Given the description of an element on the screen output the (x, y) to click on. 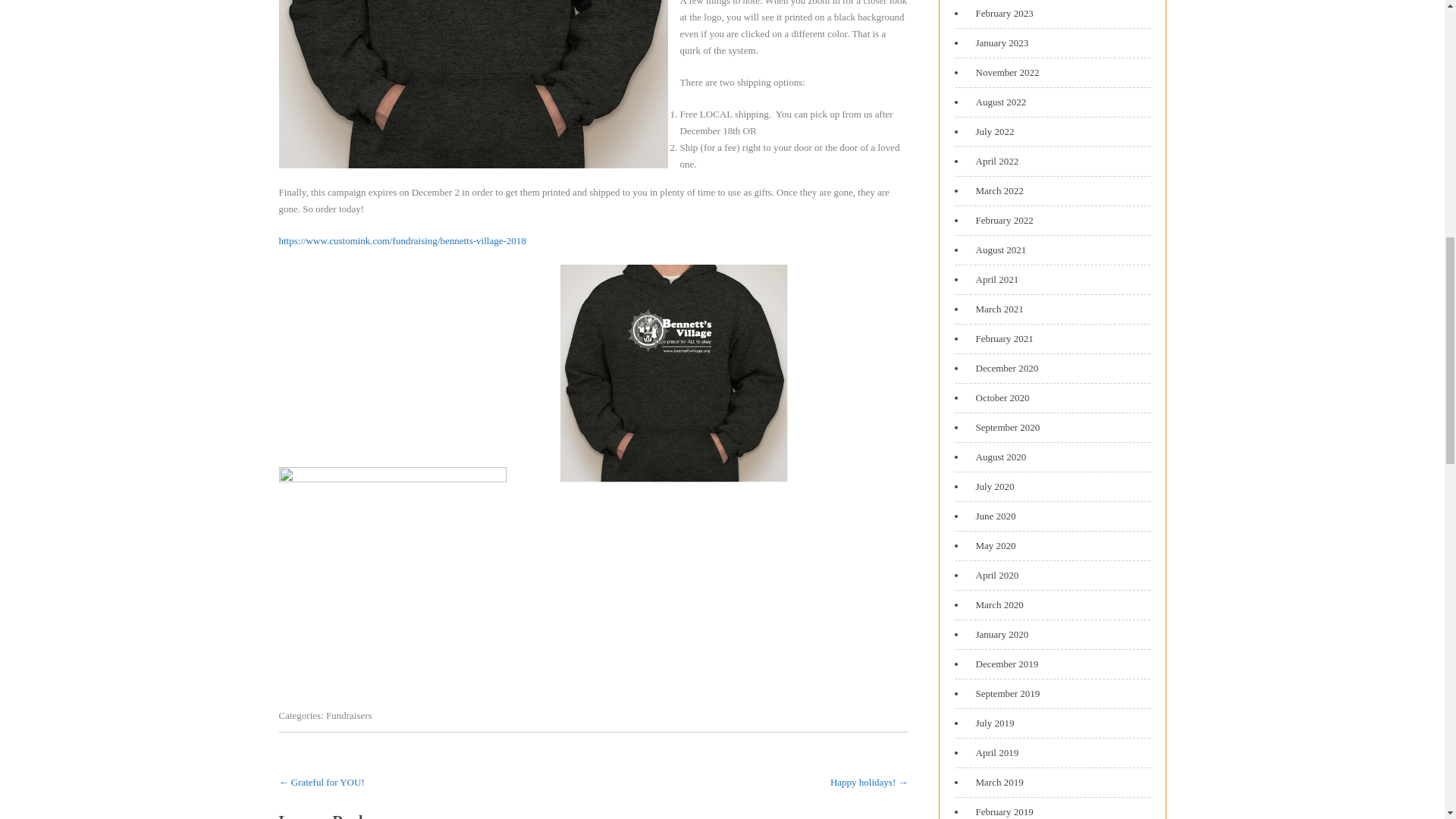
View all posts in Fundraisers (349, 715)
Fundraisers (349, 715)
